Given the description of an element on the screen output the (x, y) to click on. 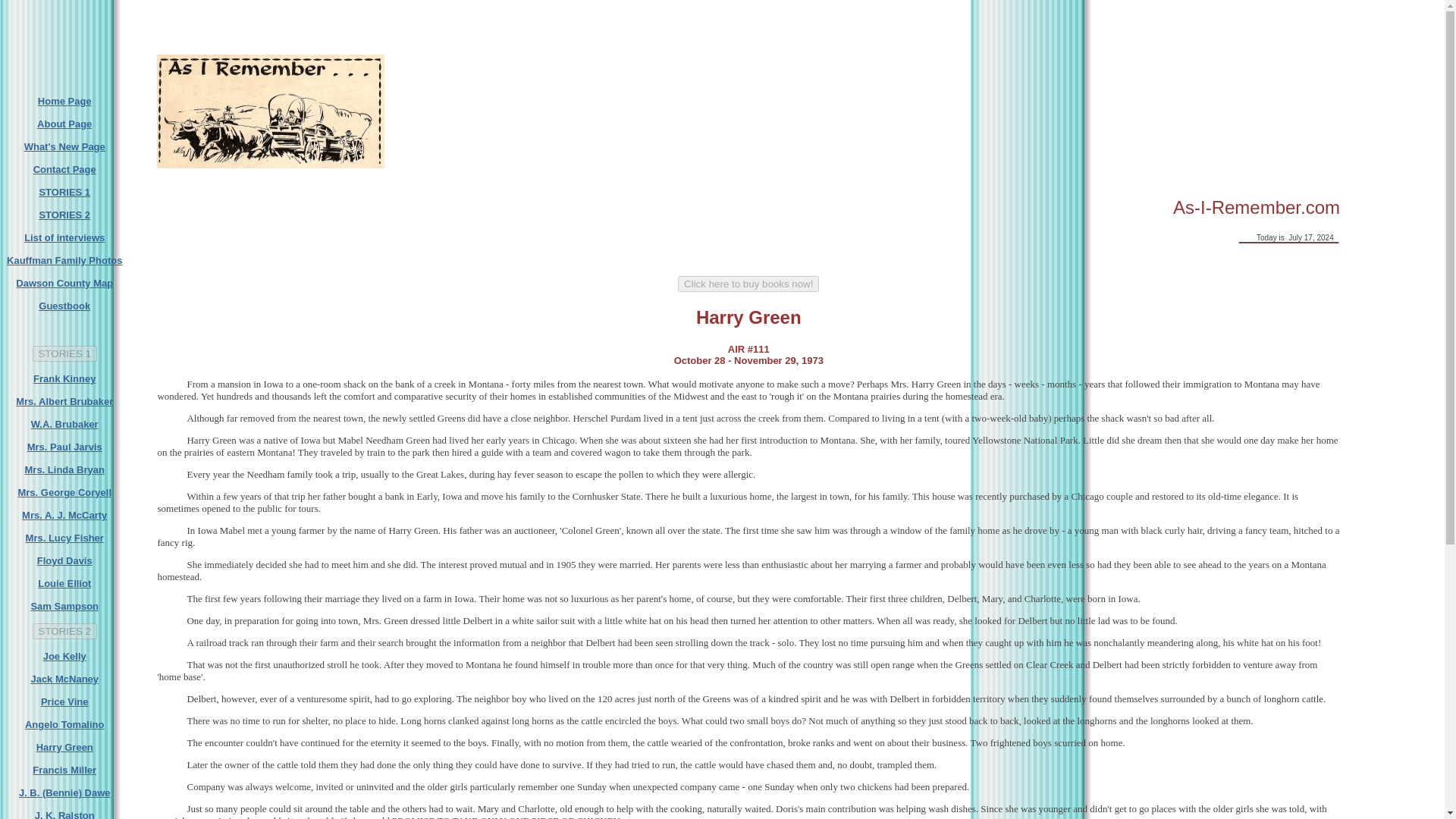
Jack McNaney (64, 678)
Kauffman Family Photos (64, 260)
Angelo Tomalino (63, 724)
Contact Page (64, 169)
Francis Miller (64, 769)
Frank Kinney (64, 378)
Mrs. Linda Bryan (63, 469)
Mrs. George Coryell (64, 491)
Mrs. A. J. McCarty (63, 514)
STORIES 2 (64, 214)
Guestbook (64, 306)
What's New Page (64, 146)
Dawson County Map (64, 283)
Louie Elliot (63, 583)
Price Vine (64, 701)
